Given the description of an element on the screen output the (x, y) to click on. 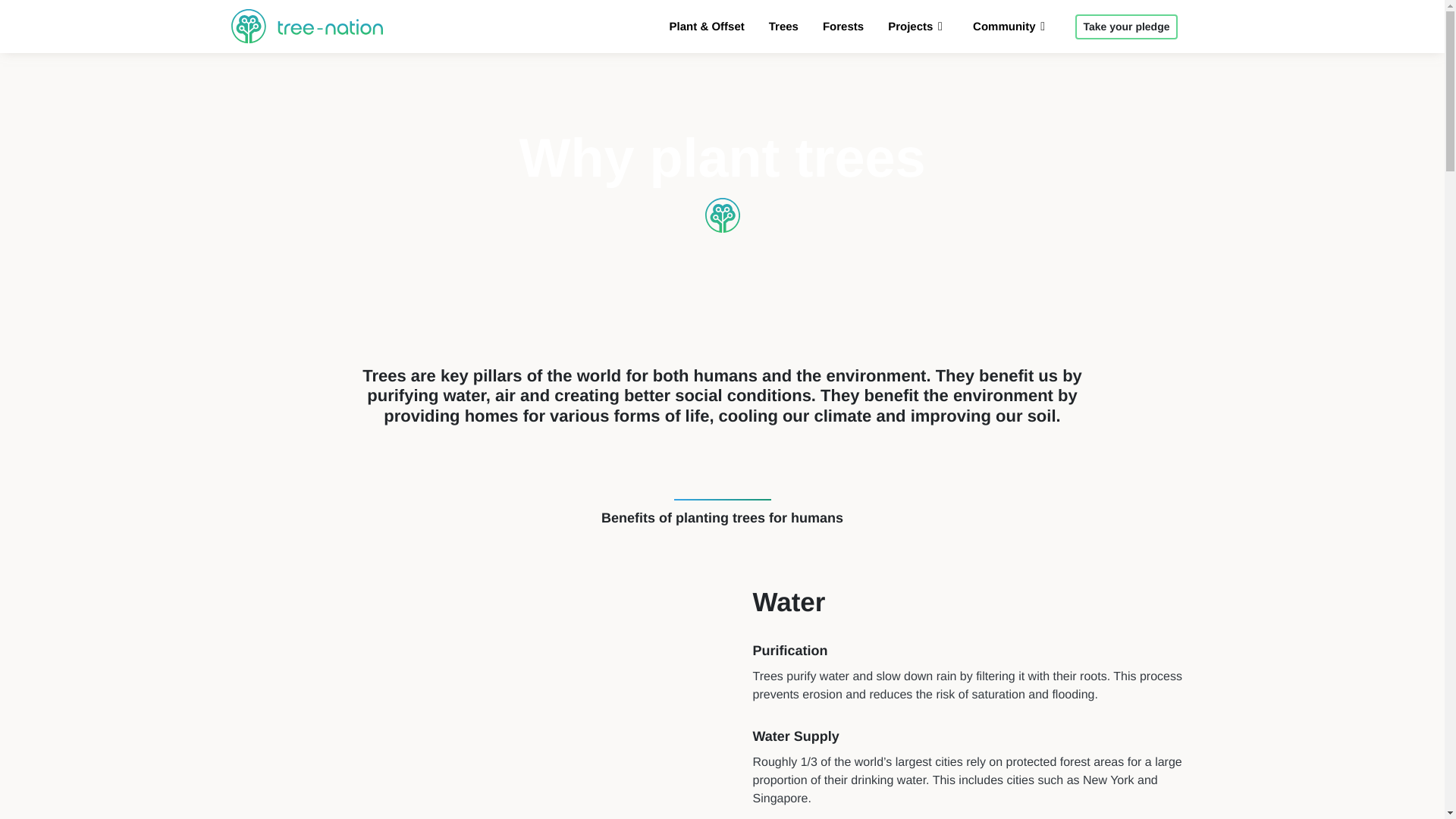
Take your pledge (1125, 26)
Forests (842, 26)
Trees (782, 26)
Community (1011, 26)
Projects (918, 26)
